Given the description of an element on the screen output the (x, y) to click on. 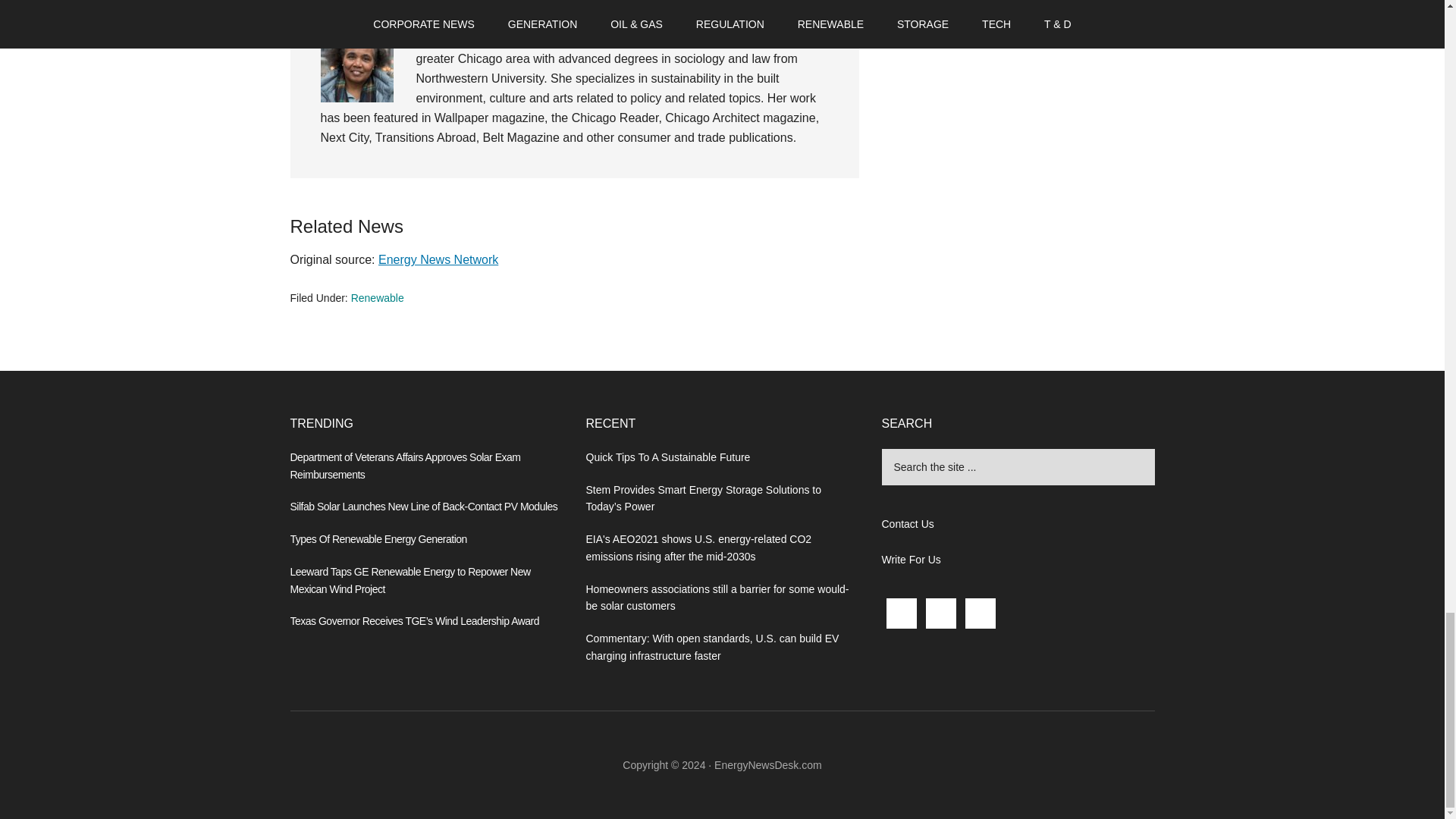
See all posts by Audrey Henderson (448, 7)
Renewable (377, 297)
Audrey Henderson (448, 7)
Energy News Network (437, 259)
